Given the description of an element on the screen output the (x, y) to click on. 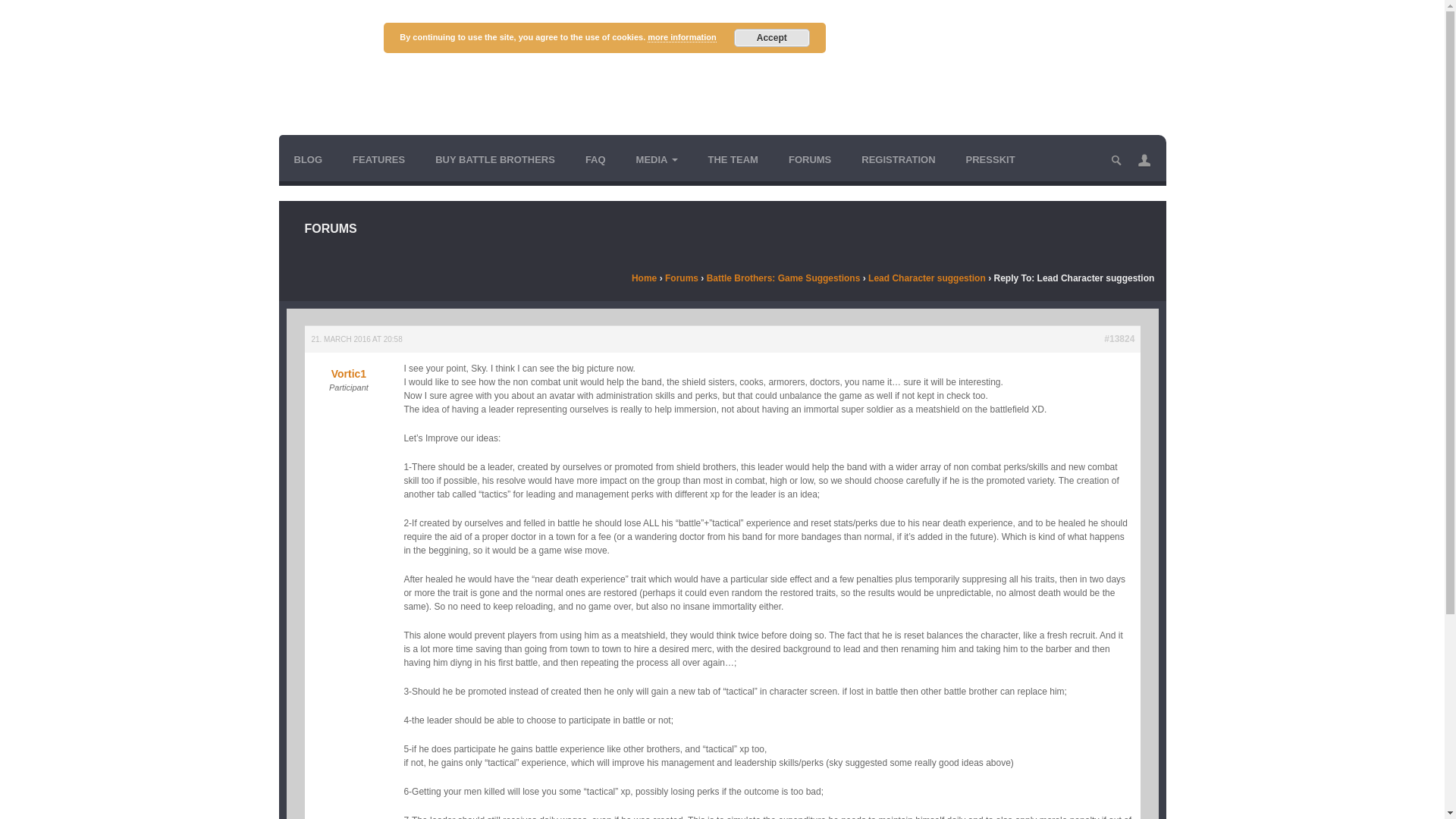
BUY BATTLE BROTHERS (495, 159)
BLOG (308, 159)
Forums (681, 277)
Search (15, 13)
MEDIA (657, 159)
Battle Brothers: Game Suggestions (783, 277)
FORUMS (809, 159)
View Vortic1's profile (347, 367)
Vortic1 (347, 367)
FEATURES (378, 159)
